Given the description of an element on the screen output the (x, y) to click on. 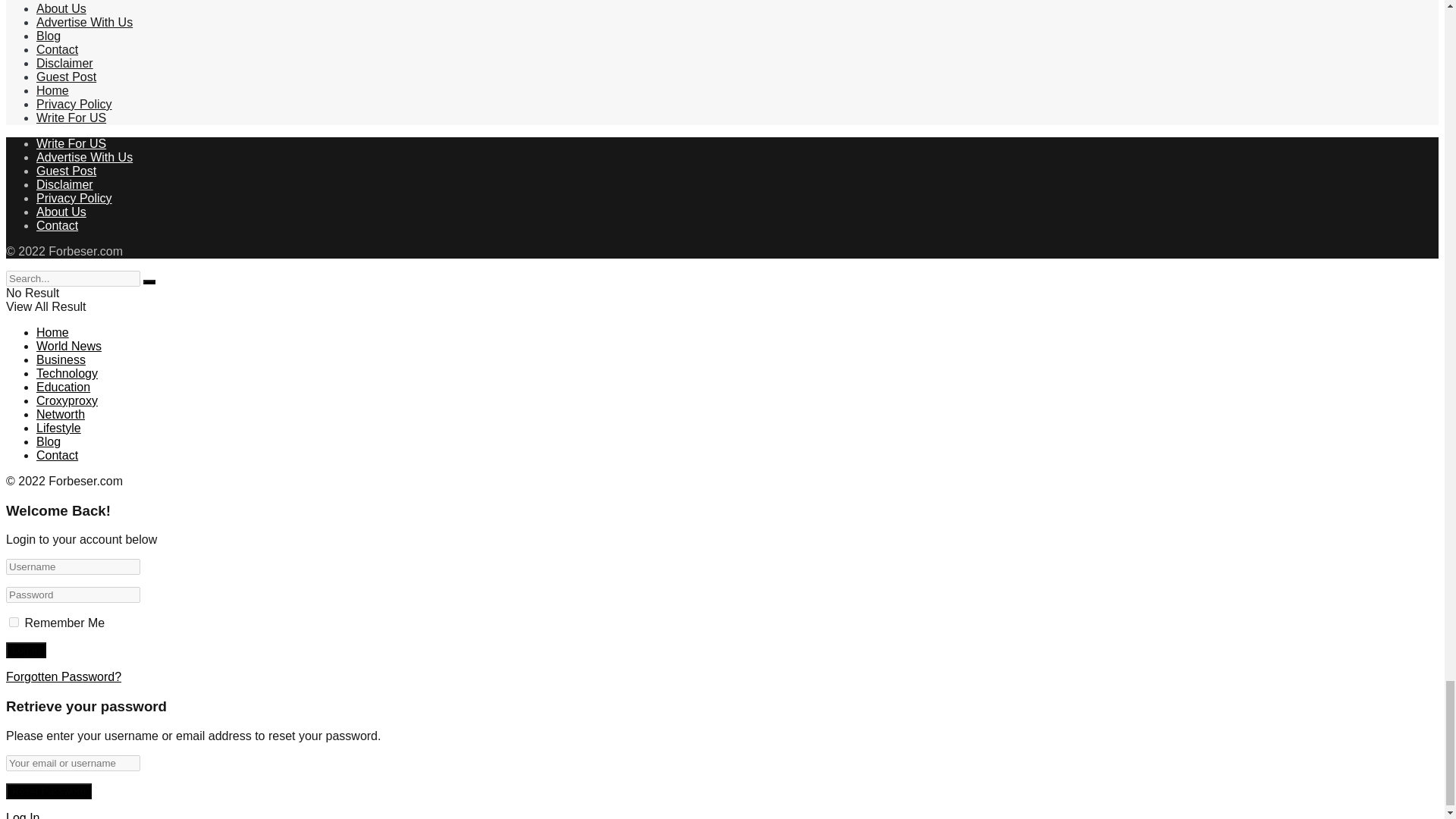
Reset Password (48, 790)
Log In (25, 650)
true (13, 622)
